Given the description of an element on the screen output the (x, y) to click on. 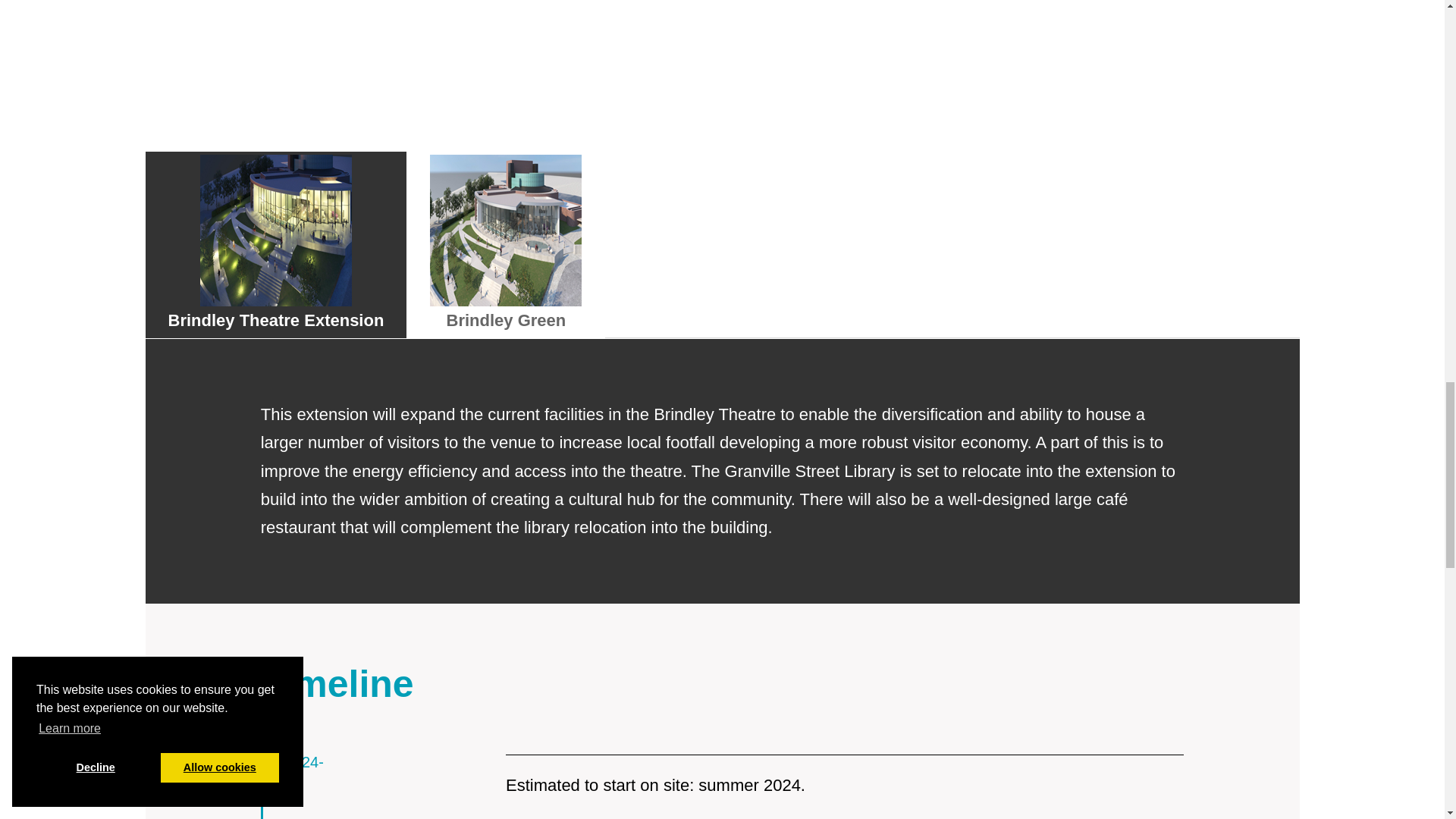
Brindley Green (505, 244)
Brindley Theatre Extension (276, 244)
